Given the description of an element on the screen output the (x, y) to click on. 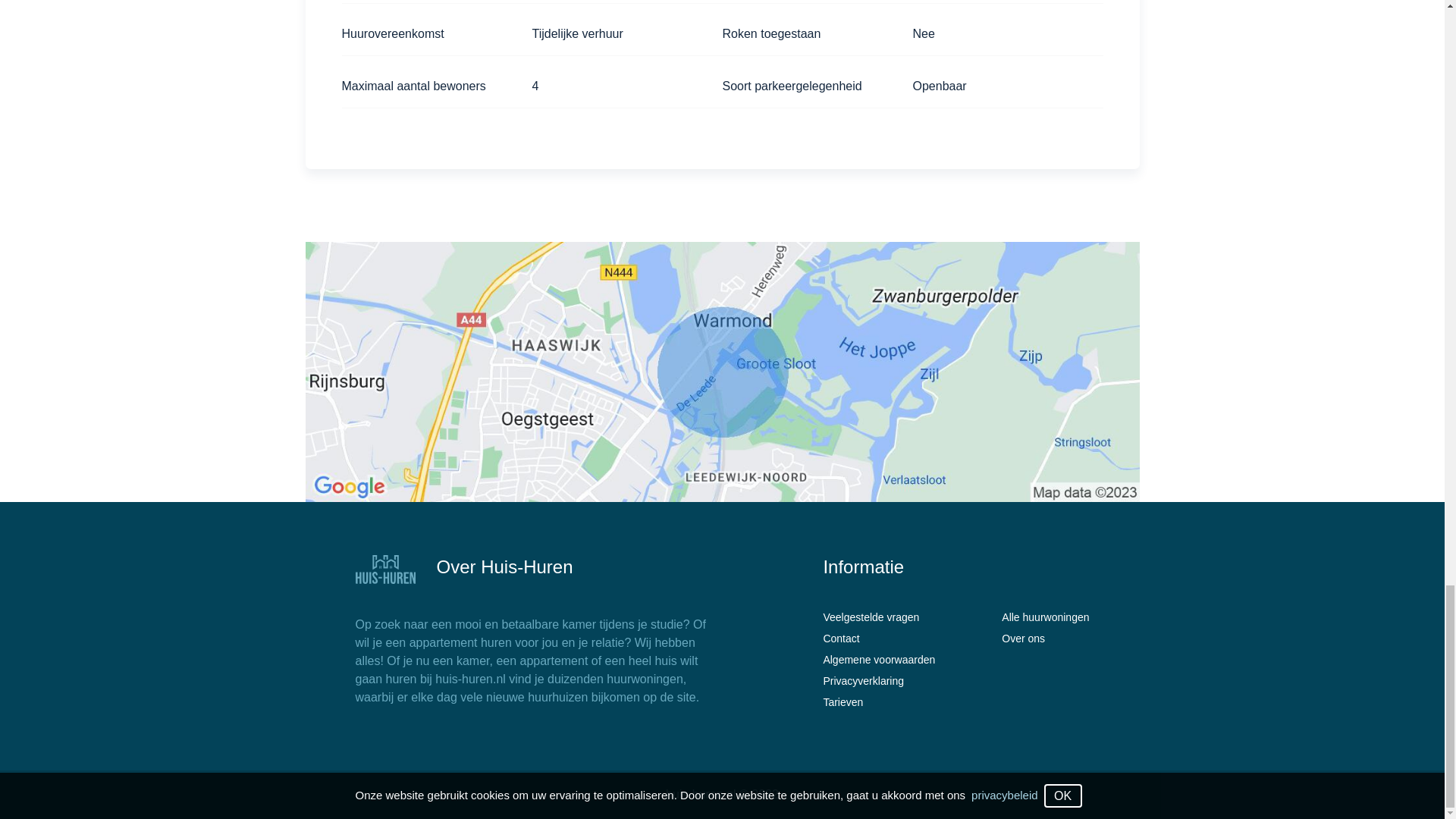
Alle huurwoningen (1045, 616)
Tarieven (878, 702)
Contact (878, 638)
Over ons (1045, 638)
Algemene voorwaarden (878, 659)
Privacyverklaring (878, 680)
Veelgestelde vragen (878, 616)
